Given the description of an element on the screen output the (x, y) to click on. 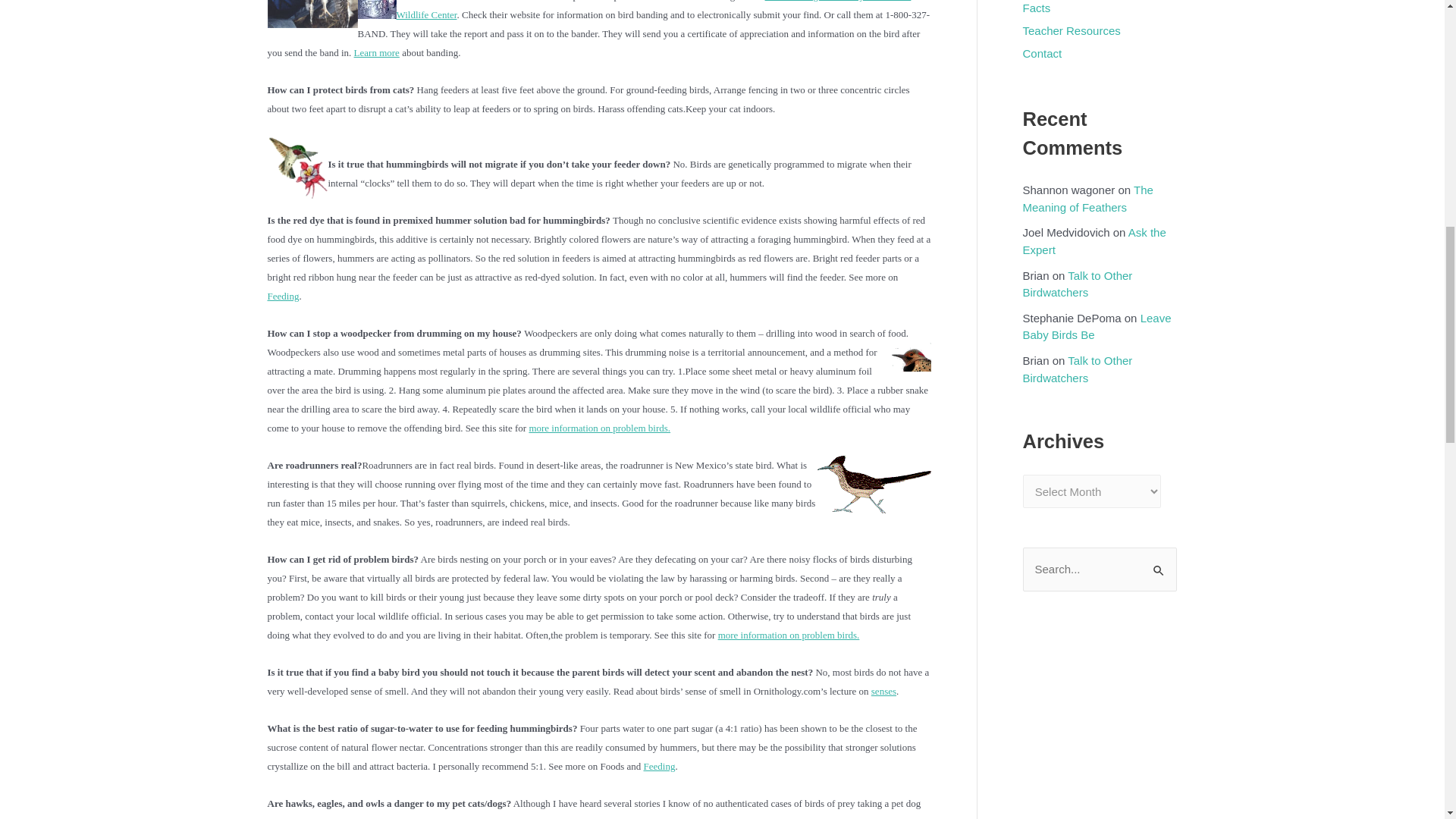
Search (1158, 562)
The Nervous System and Senses (883, 690)
Search (1158, 562)
